Given the description of an element on the screen output the (x, y) to click on. 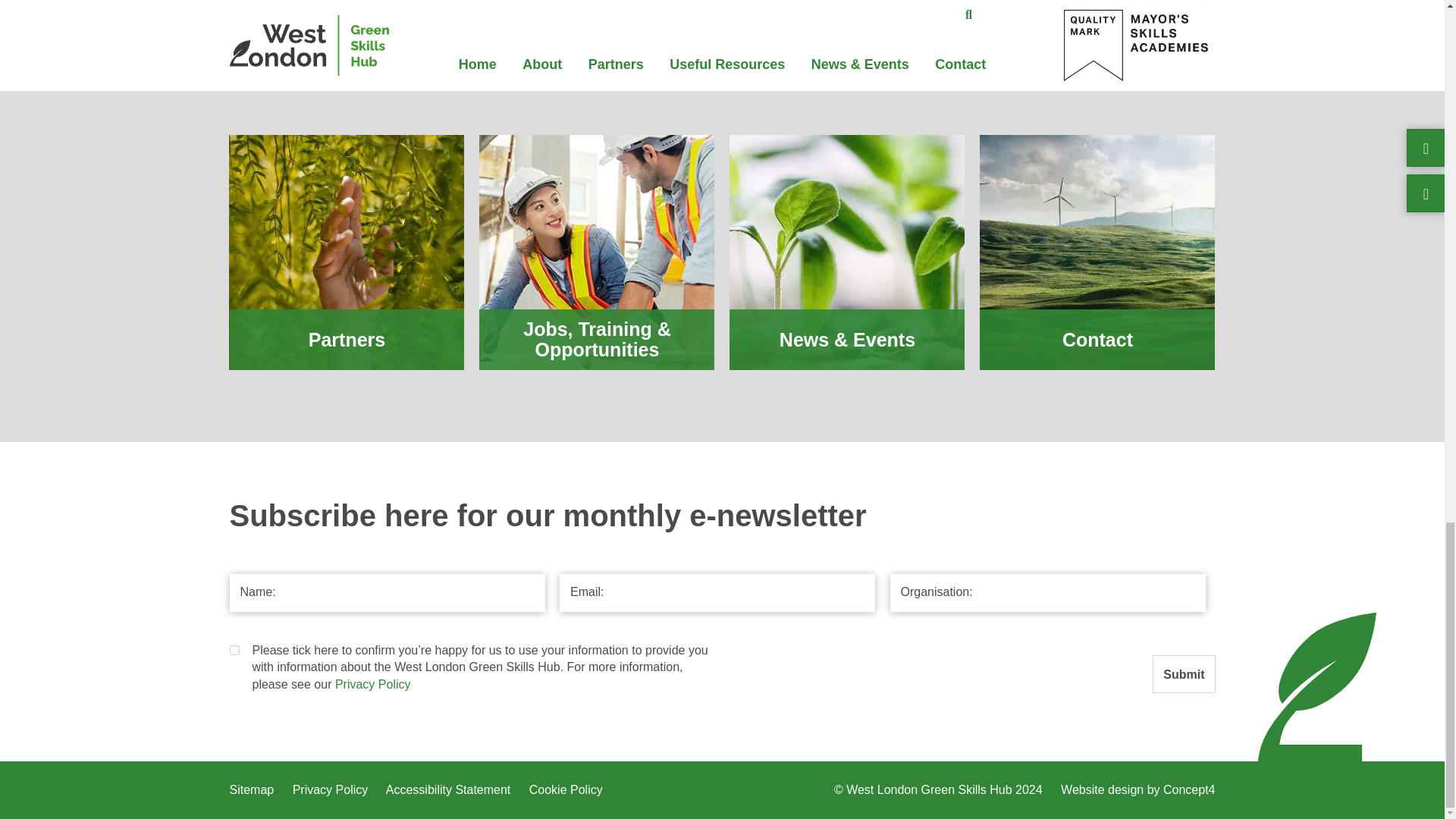
Send over email (344, 12)
Share on X (293, 12)
on (233, 650)
Share on Facebook (243, 12)
